Given the description of an element on the screen output the (x, y) to click on. 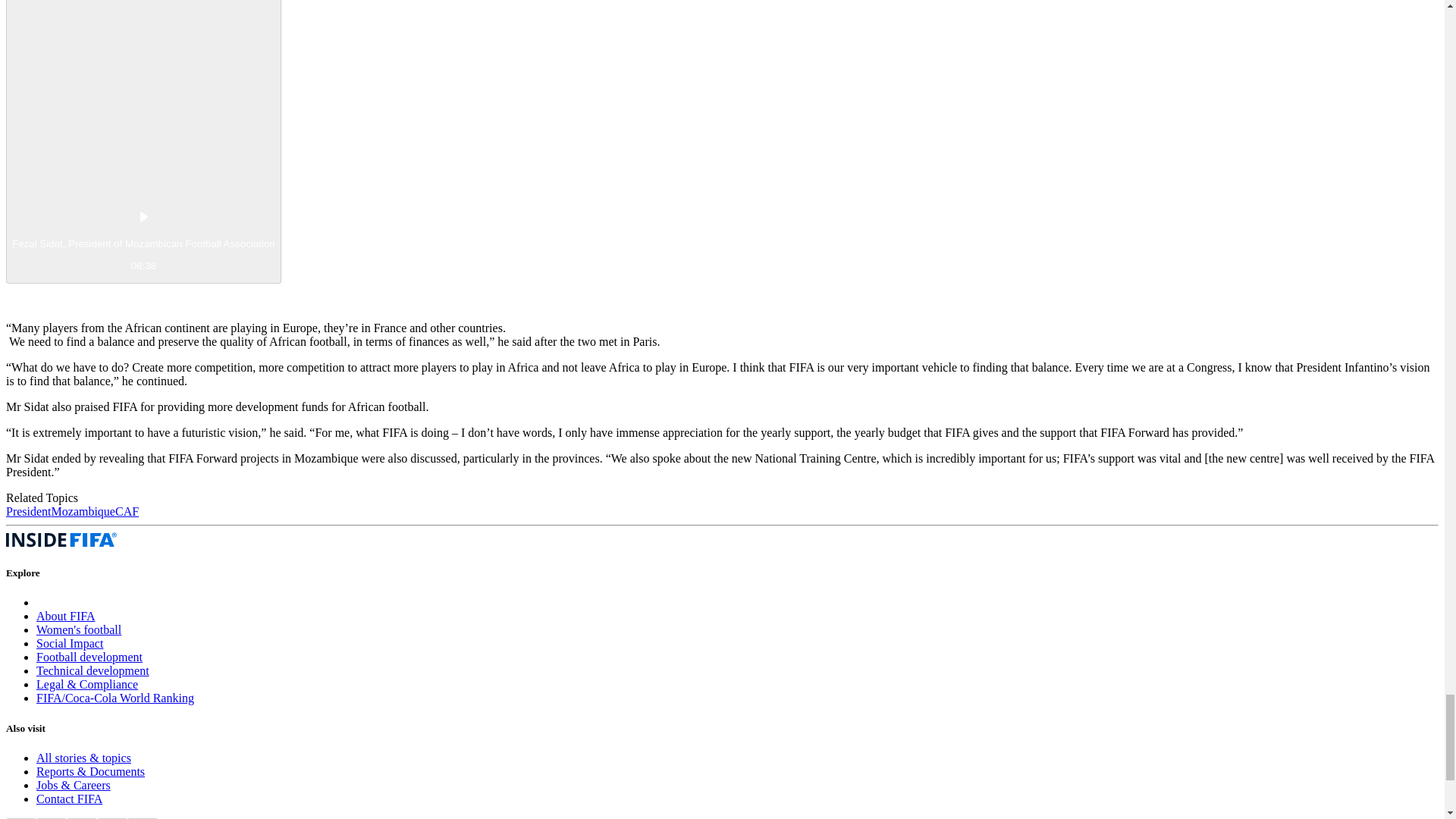
Technical development (92, 670)
President (27, 511)
Social Impact (69, 643)
About FIFA (66, 615)
CAF (126, 511)
Mozambique (82, 511)
Contact FIFA (68, 798)
Football development (89, 656)
Women's football (78, 629)
